Given the description of an element on the screen output the (x, y) to click on. 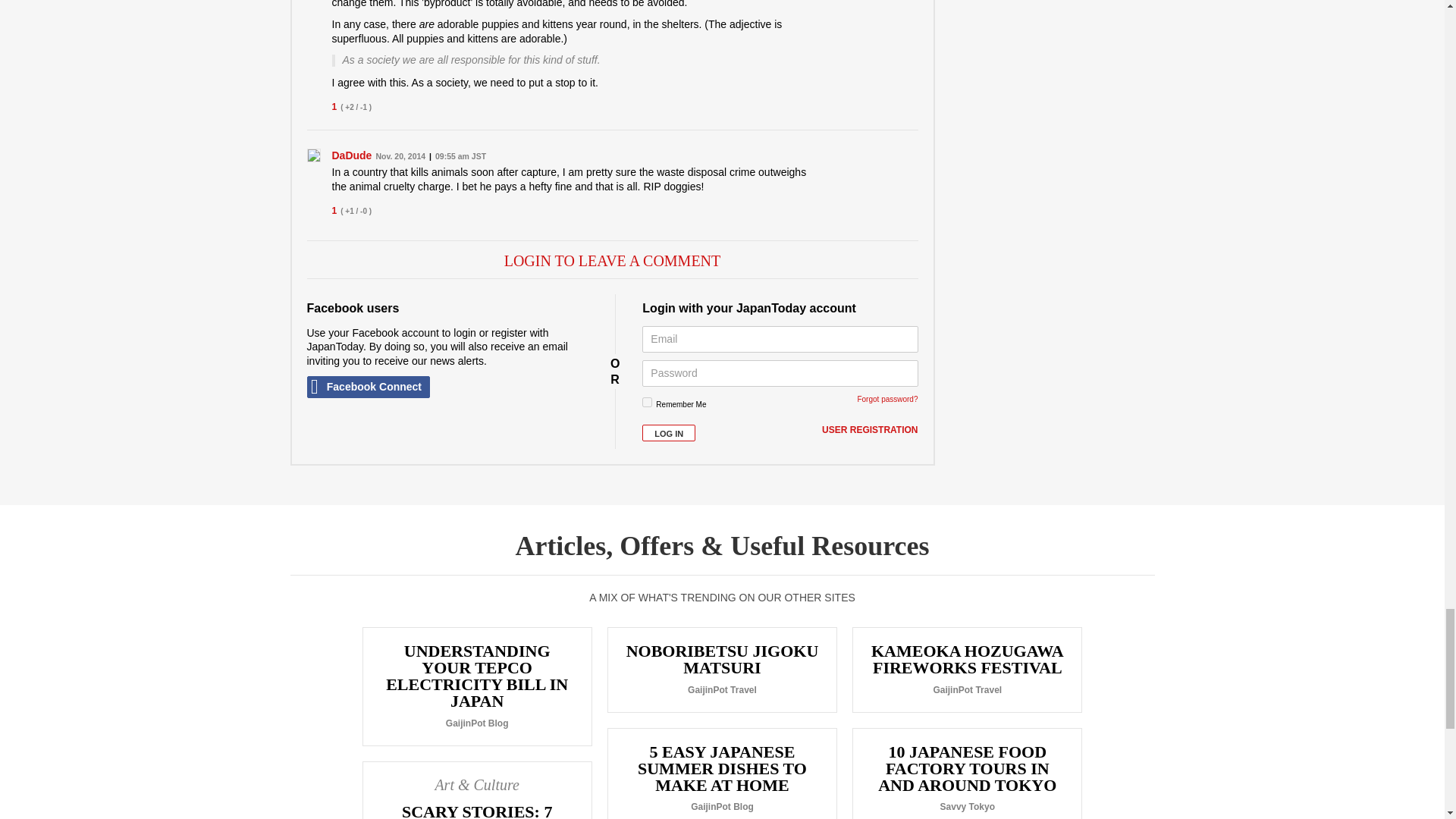
Log In (668, 433)
Noboribetsu Jigoku Matsuri (721, 669)
Connect with Facebook (367, 386)
Understanding Your TEPCO Electricity Bill in Japan (476, 686)
User registration (869, 430)
Forgot password? (887, 398)
Kameoka Hozugawa Fireworks Festival (967, 669)
1 (647, 402)
